Given the description of an element on the screen output the (x, y) to click on. 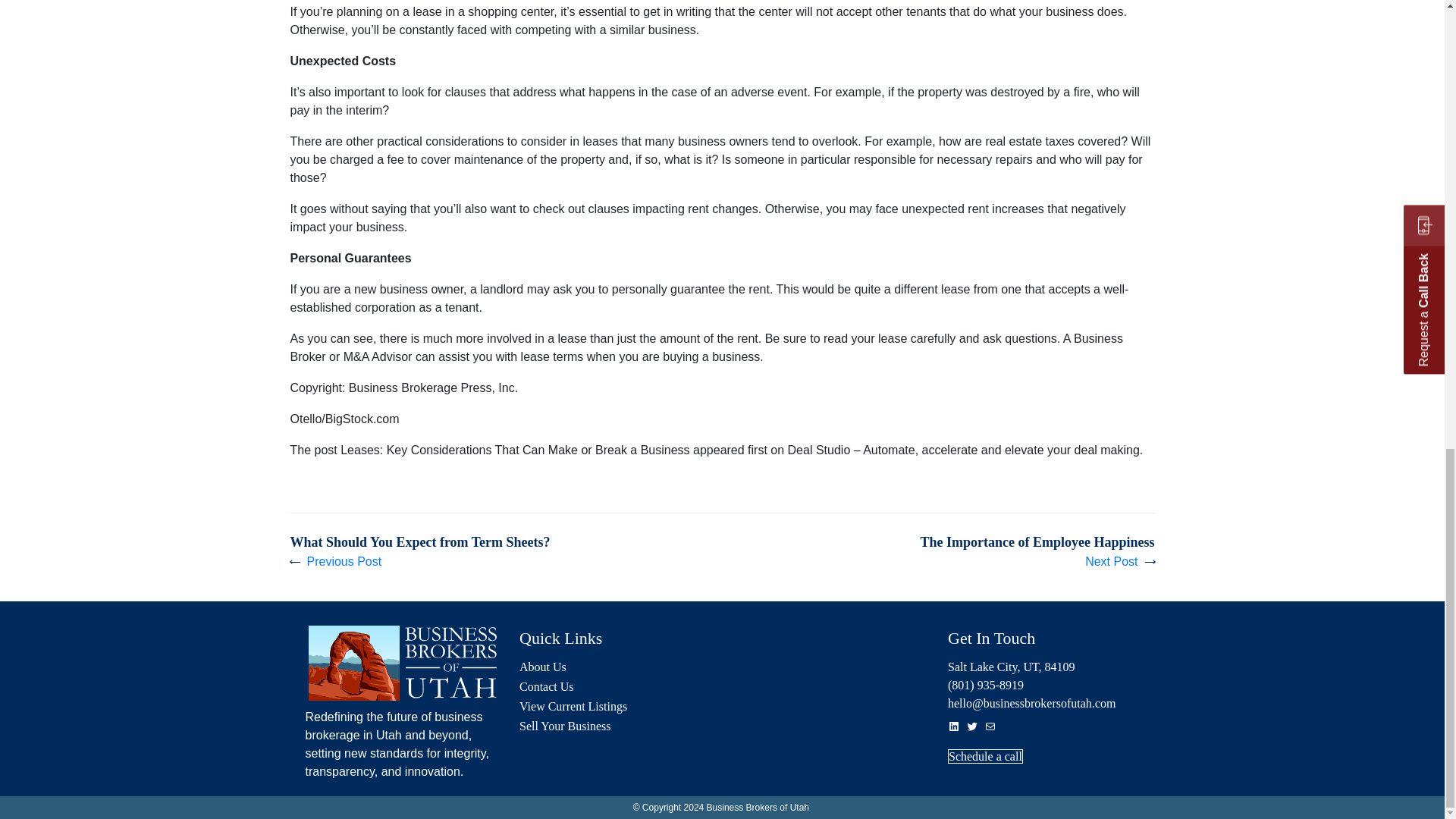
What Should You Expect from Term Sheets? (419, 551)
The Importance of Employee Happiness (1037, 551)
